Given the description of an element on the screen output the (x, y) to click on. 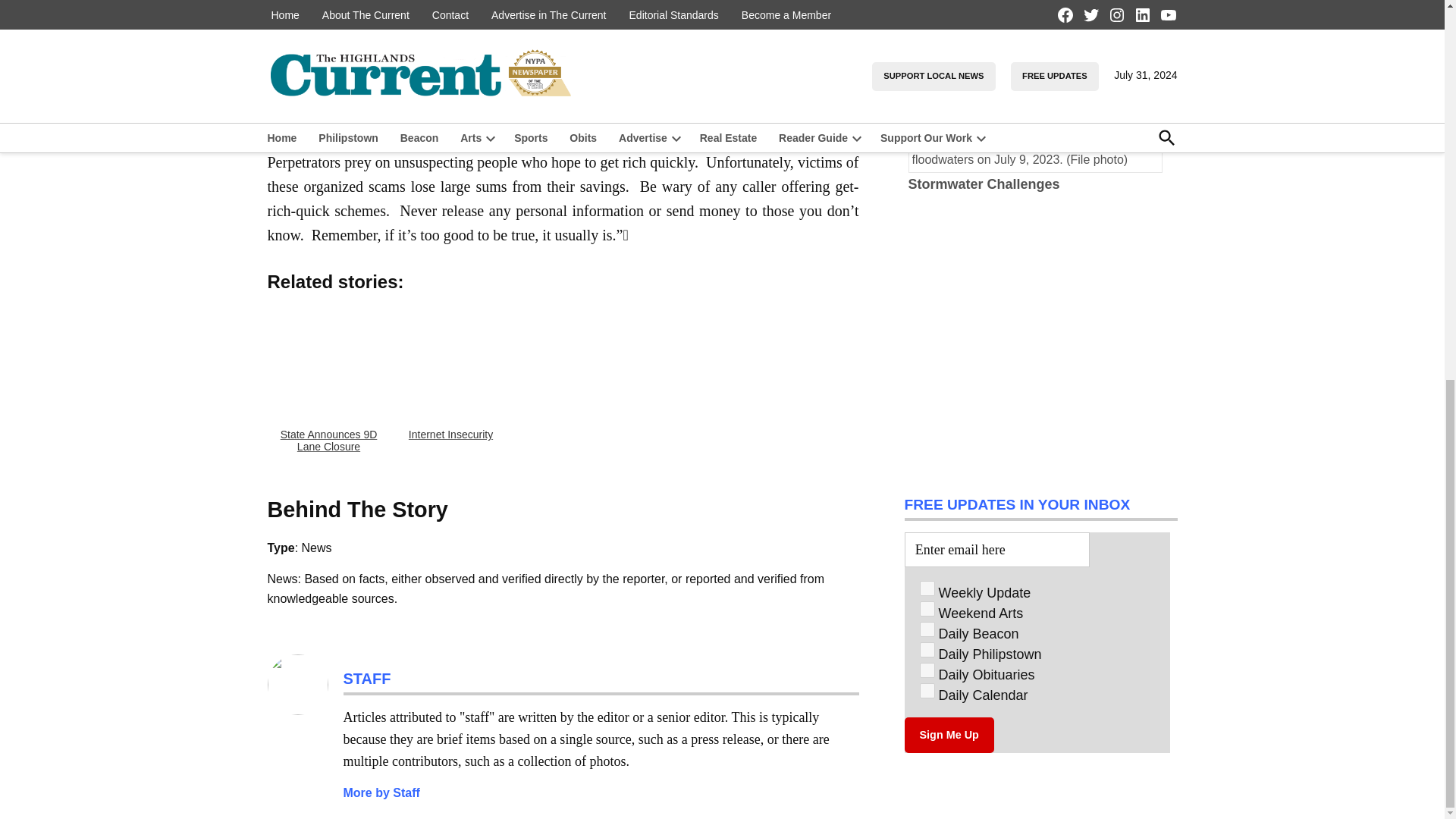
Shakespeare Fest Plan Approved (1016, 95)
Stormwater Challenges (1040, 159)
Shakespeare Fest Plan Approved (1040, 69)
Sign Me Up (948, 735)
Enter email here (996, 549)
Stormwater Challenges (983, 183)
